Given the description of an element on the screen output the (x, y) to click on. 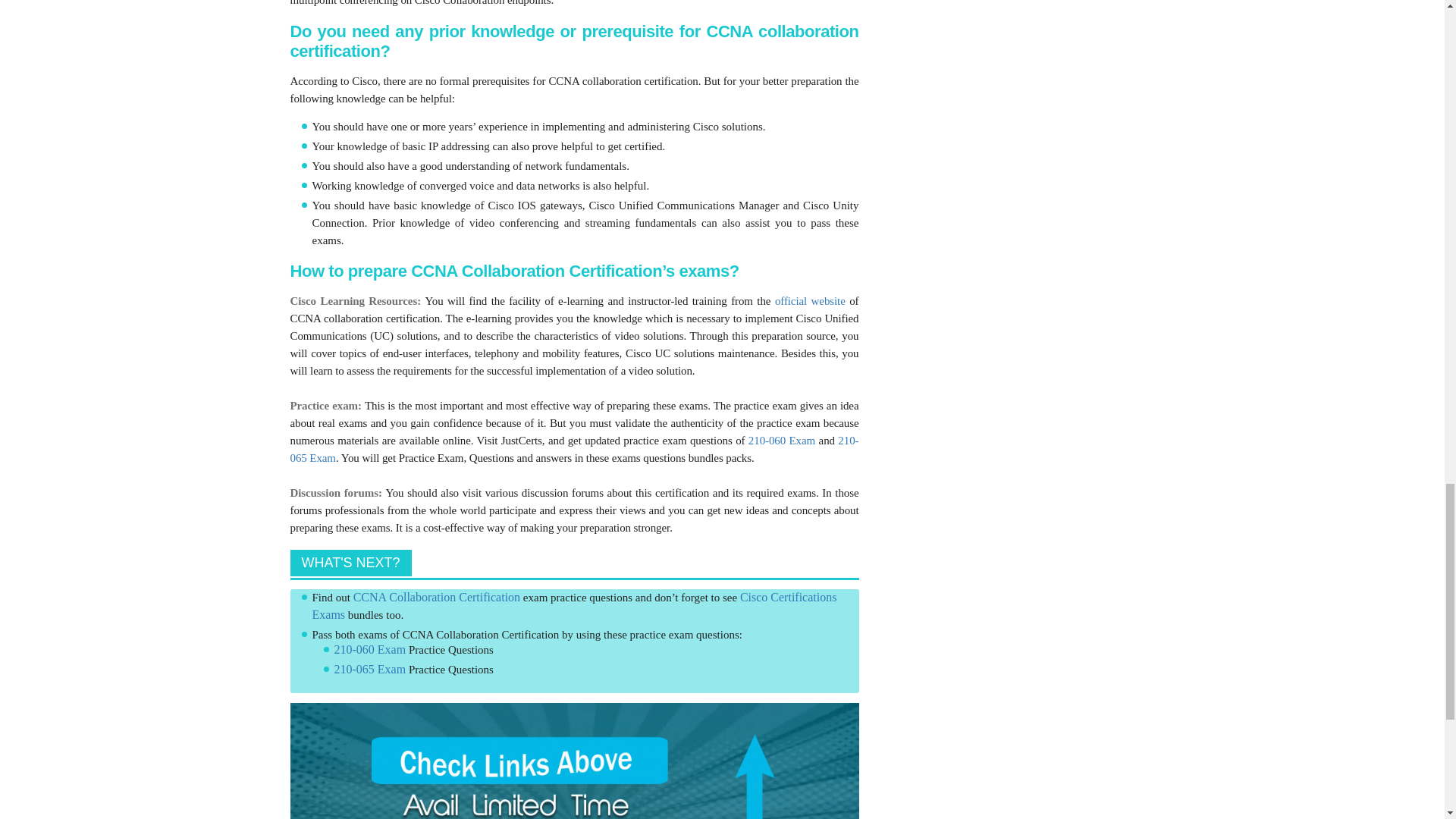
210-065 Exam (574, 449)
official website (809, 300)
210-060 Exam (781, 440)
